Given the description of an element on the screen output the (x, y) to click on. 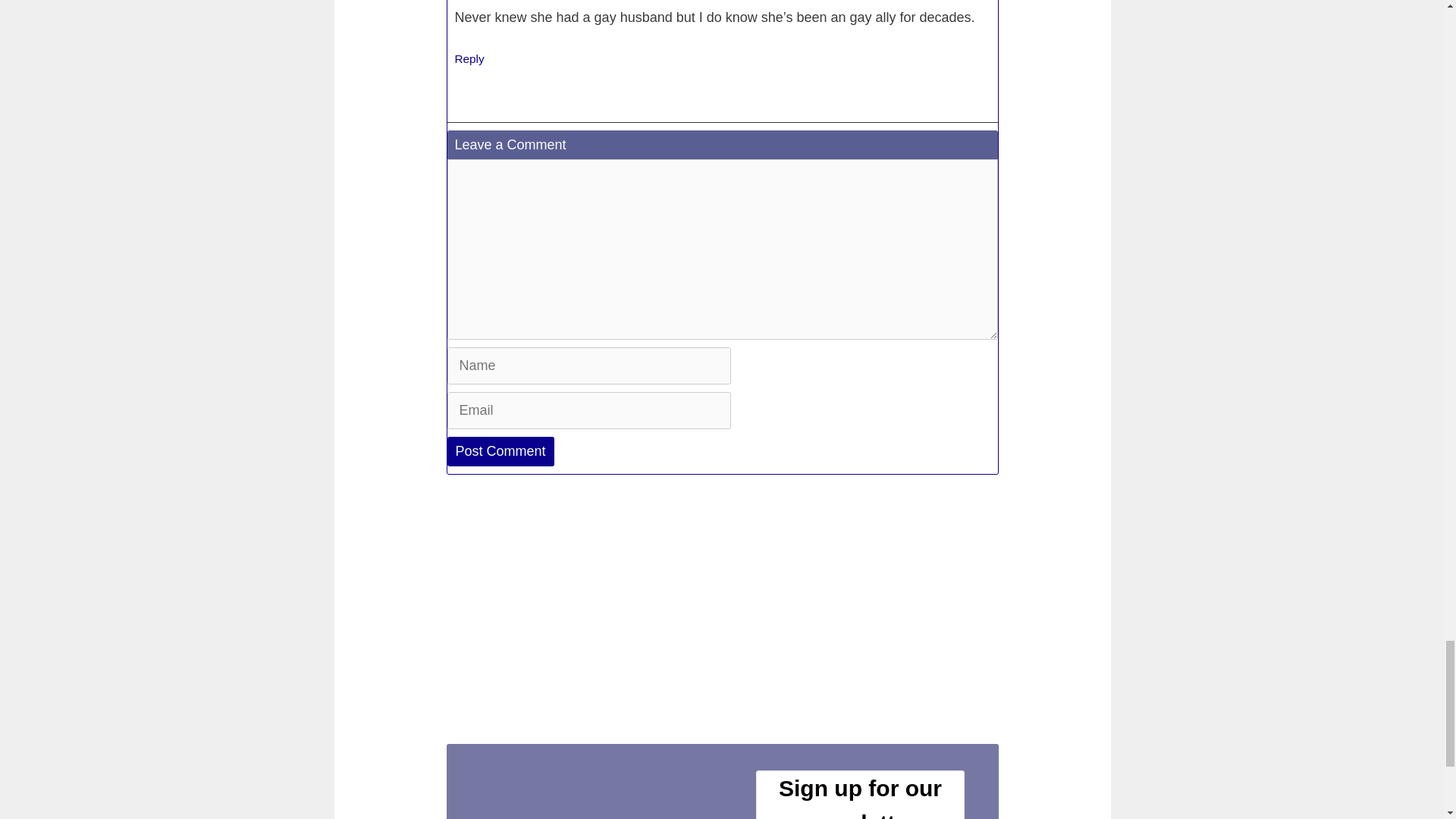
Post Comment (500, 451)
